Given the description of an element on the screen output the (x, y) to click on. 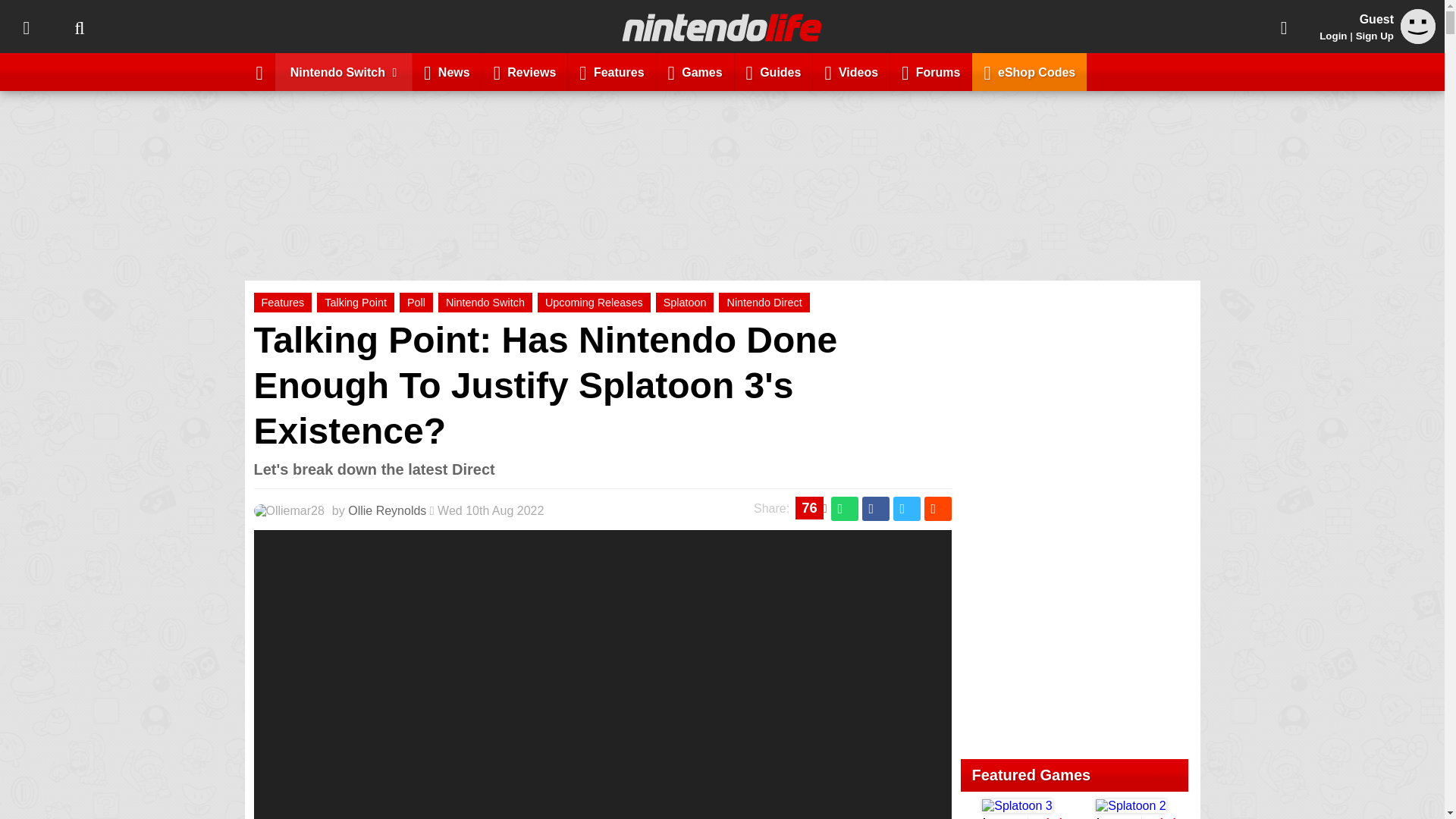
Login (1332, 35)
Nintendo Switch (485, 302)
Forums (930, 71)
Videos (850, 71)
Sign Up (1374, 35)
Talking Point (355, 302)
Reviews (525, 71)
Guest (1417, 39)
Features (611, 71)
Share this on Facebook (874, 508)
